Given the description of an element on the screen output the (x, y) to click on. 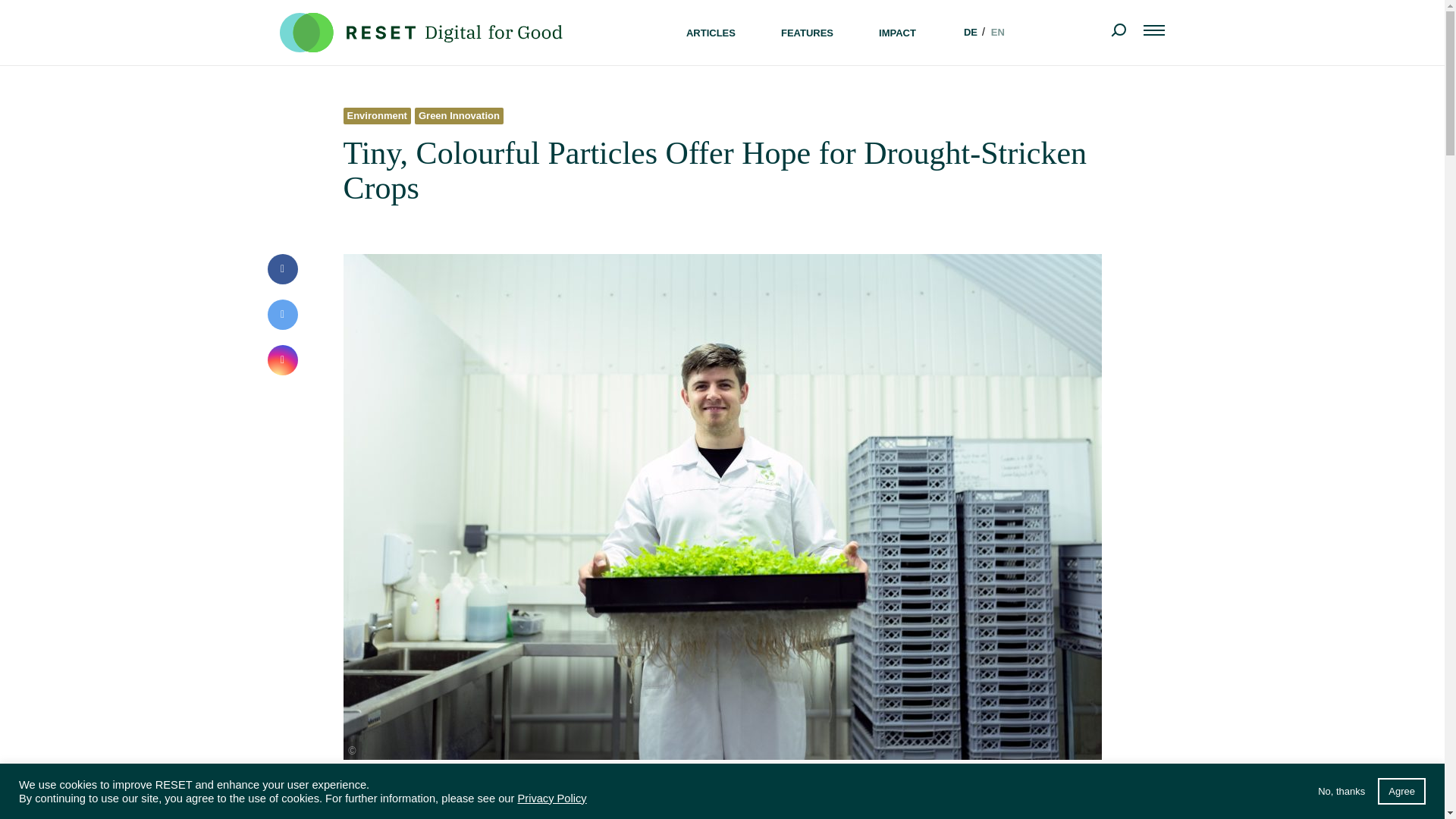
Environment (377, 114)
IMPACT (896, 32)
EN (996, 31)
ARTICLES (710, 32)
Green Innovation (459, 114)
DE (968, 31)
FEATURES (807, 32)
